Given the description of an element on the screen output the (x, y) to click on. 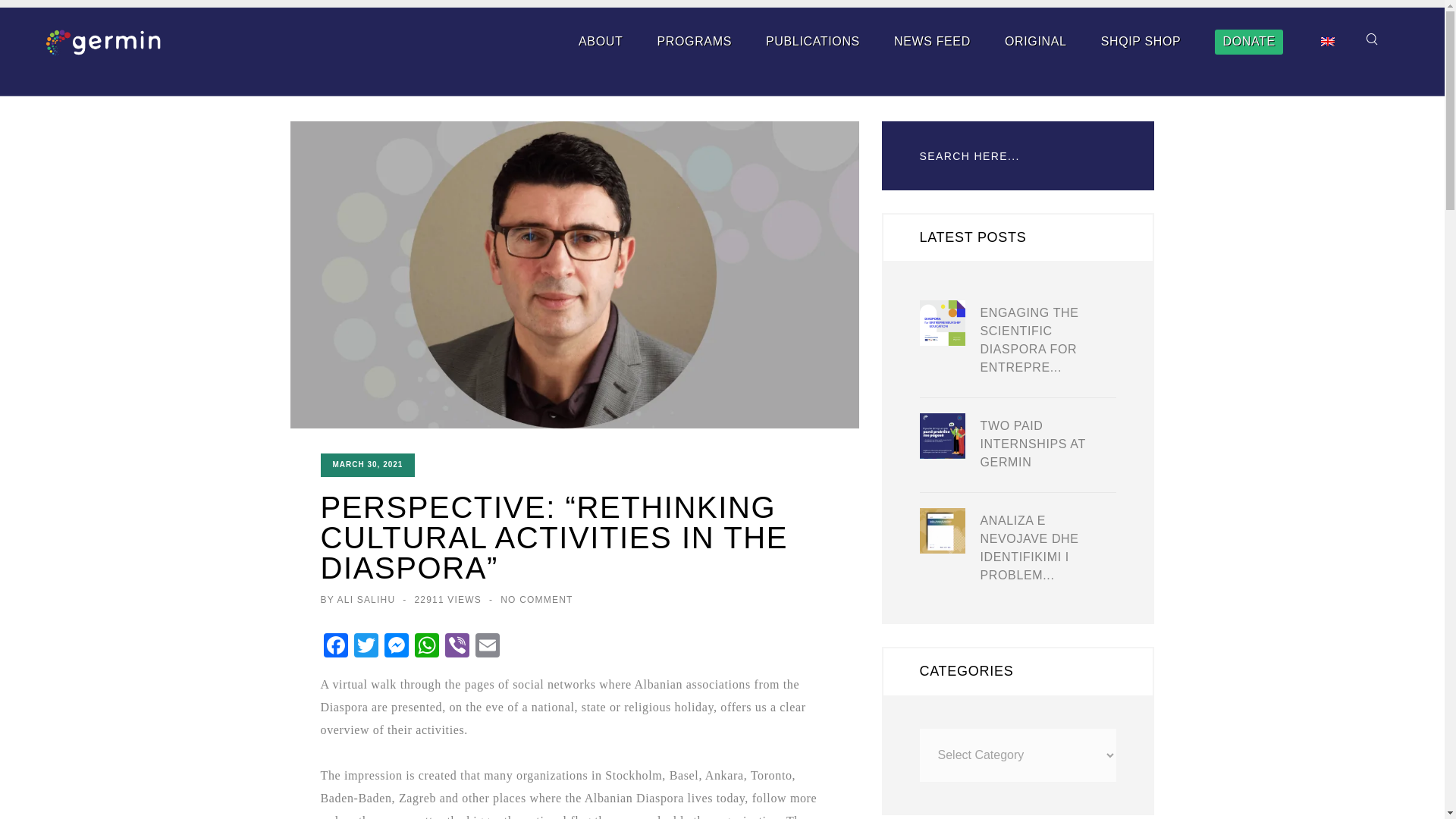
BY ALI SALIHU (357, 599)
SHQIP SHOP (1140, 41)
22911 VIEWS (447, 599)
PROGRAMS (693, 41)
English (1327, 40)
Email (486, 646)
WhatsApp (425, 646)
Messenger (395, 646)
NO COMMENT (536, 599)
Facebook (335, 646)
ABOUT (600, 41)
Viber (456, 646)
Viber (456, 646)
NO COMMENT (536, 599)
DONATE (1248, 41)
